Given the description of an element on the screen output the (x, y) to click on. 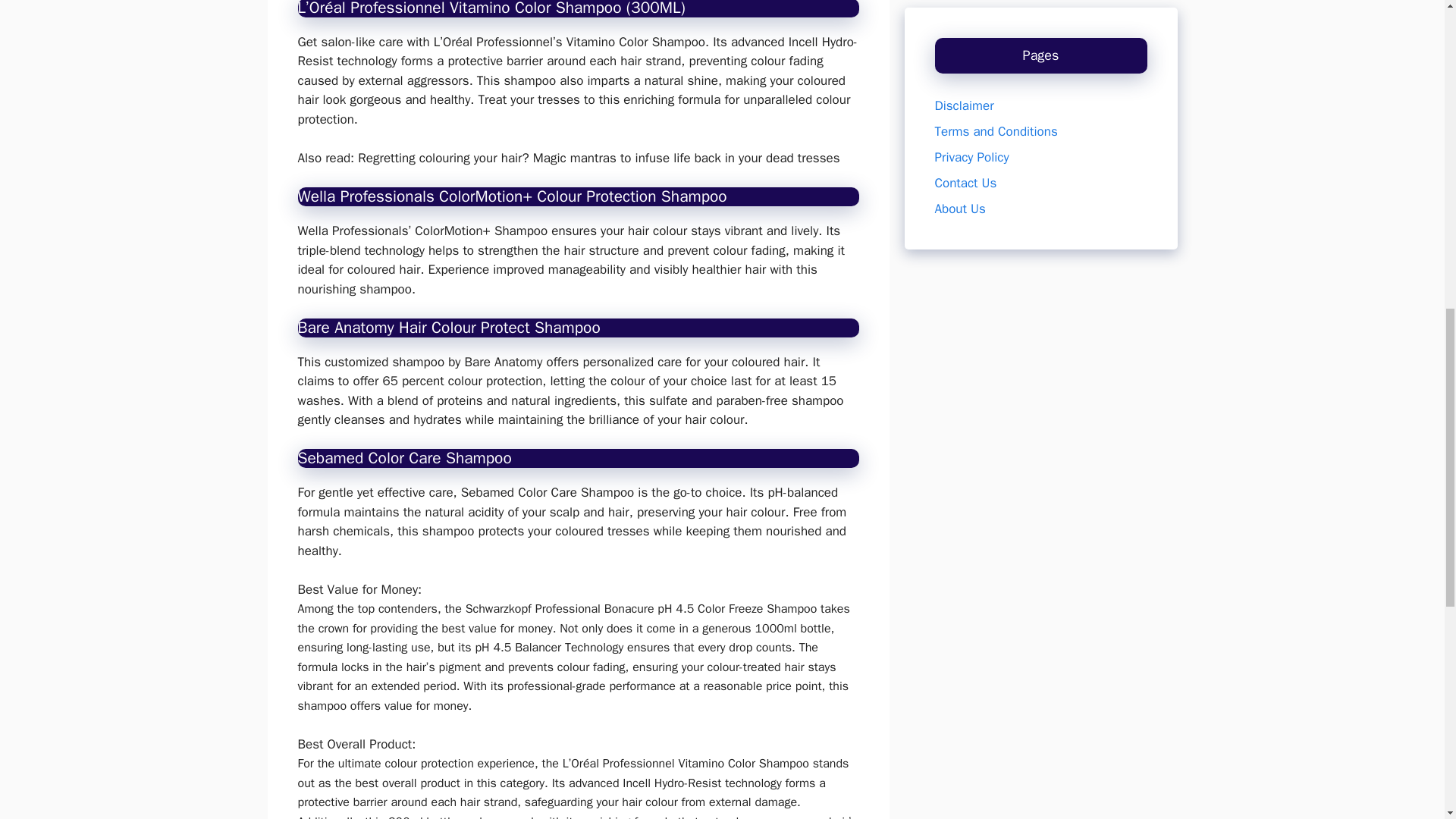
Scroll back to top (1406, 720)
